Given the description of an element on the screen output the (x, y) to click on. 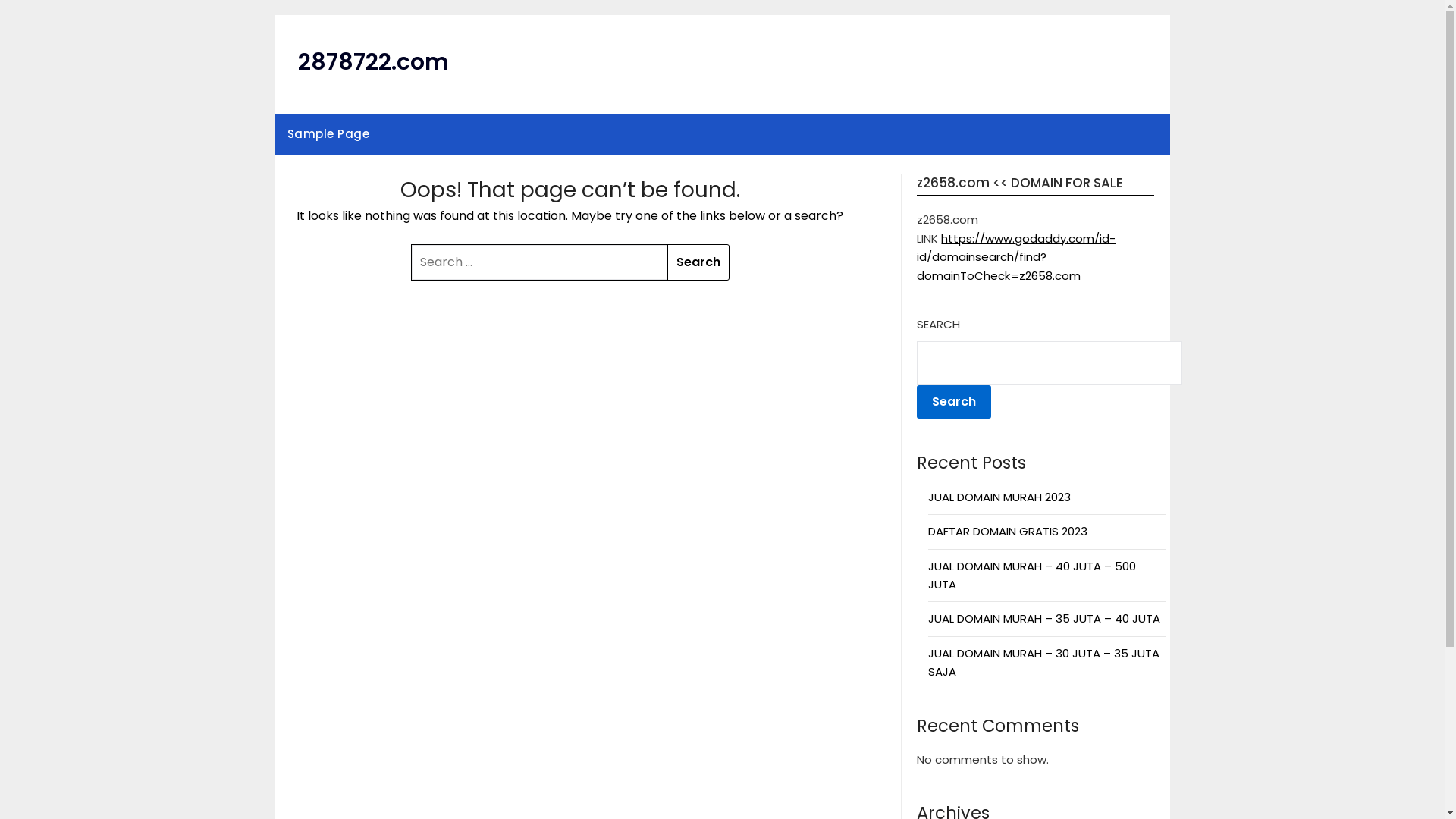
Sample Page Element type: text (327, 133)
JUAL DOMAIN MURAH 2023 Element type: text (999, 497)
Search Element type: text (953, 401)
Search Element type: text (698, 262)
2878722.com Element type: text (372, 62)
DAFTAR DOMAIN GRATIS 2023 Element type: text (1007, 531)
